Given the description of an element on the screen output the (x, y) to click on. 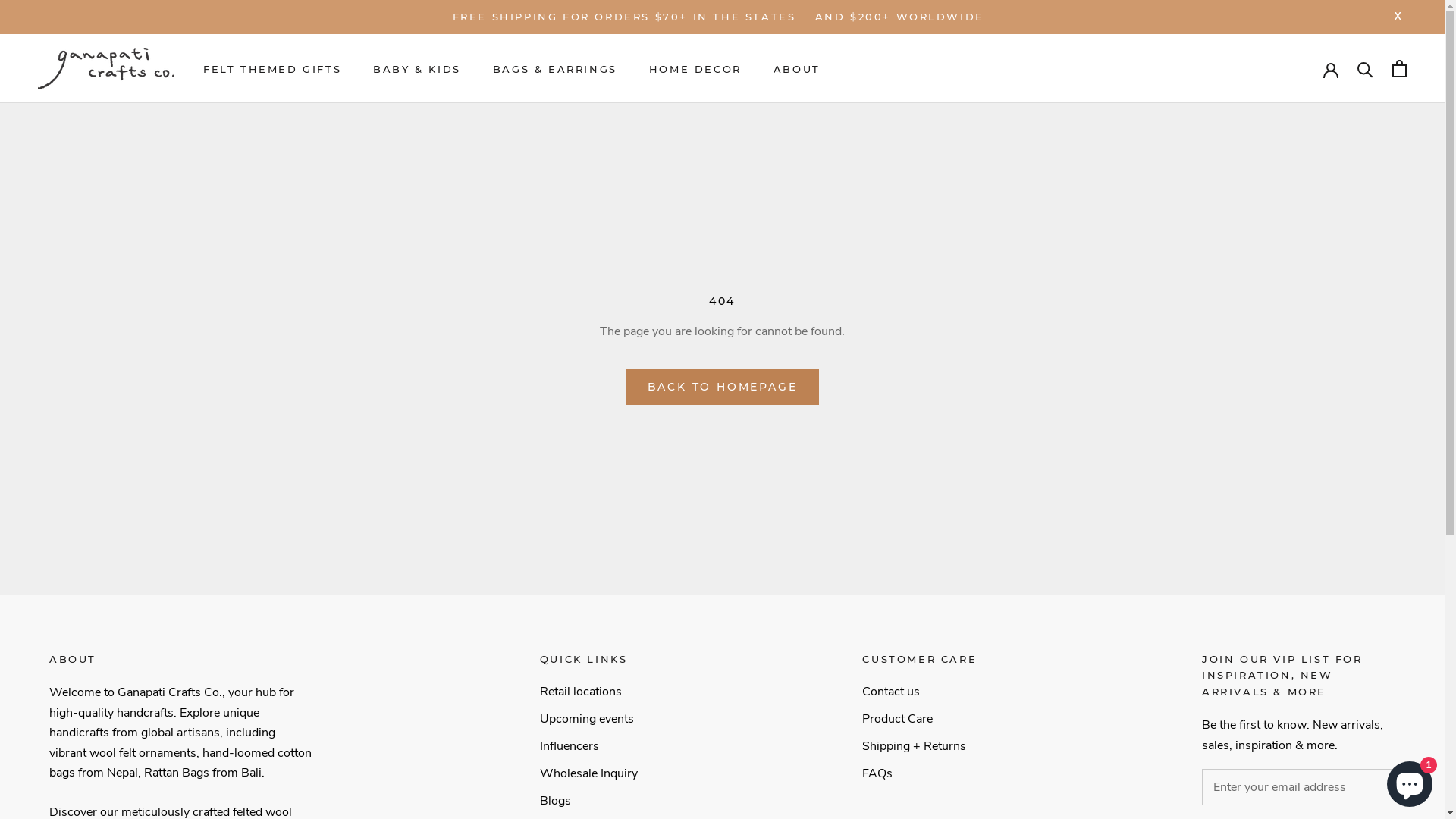
BAGS & EARRINGS
BAGS & EARRINGS Element type: text (554, 68)
Contact us Element type: text (919, 691)
FELT THEMED GIFTS
FELT THEMED GIFTS Element type: text (272, 68)
BACK TO HOMEPAGE Element type: text (722, 386)
BABY & KIDS
BABY & KIDS Element type: text (417, 68)
Product Care Element type: text (919, 718)
Upcoming events Element type: text (588, 718)
Shopify online store chat Element type: hover (1409, 780)
Retail locations Element type: text (588, 691)
Wholesale Inquiry Element type: text (588, 773)
Influencers Element type: text (588, 746)
ABOUT Element type: text (796, 68)
HOME DECOR
HOME DECOR Element type: text (695, 68)
FAQs Element type: text (919, 773)
Blogs Element type: text (588, 800)
Shipping + Returns Element type: text (919, 746)
